Given the description of an element on the screen output the (x, y) to click on. 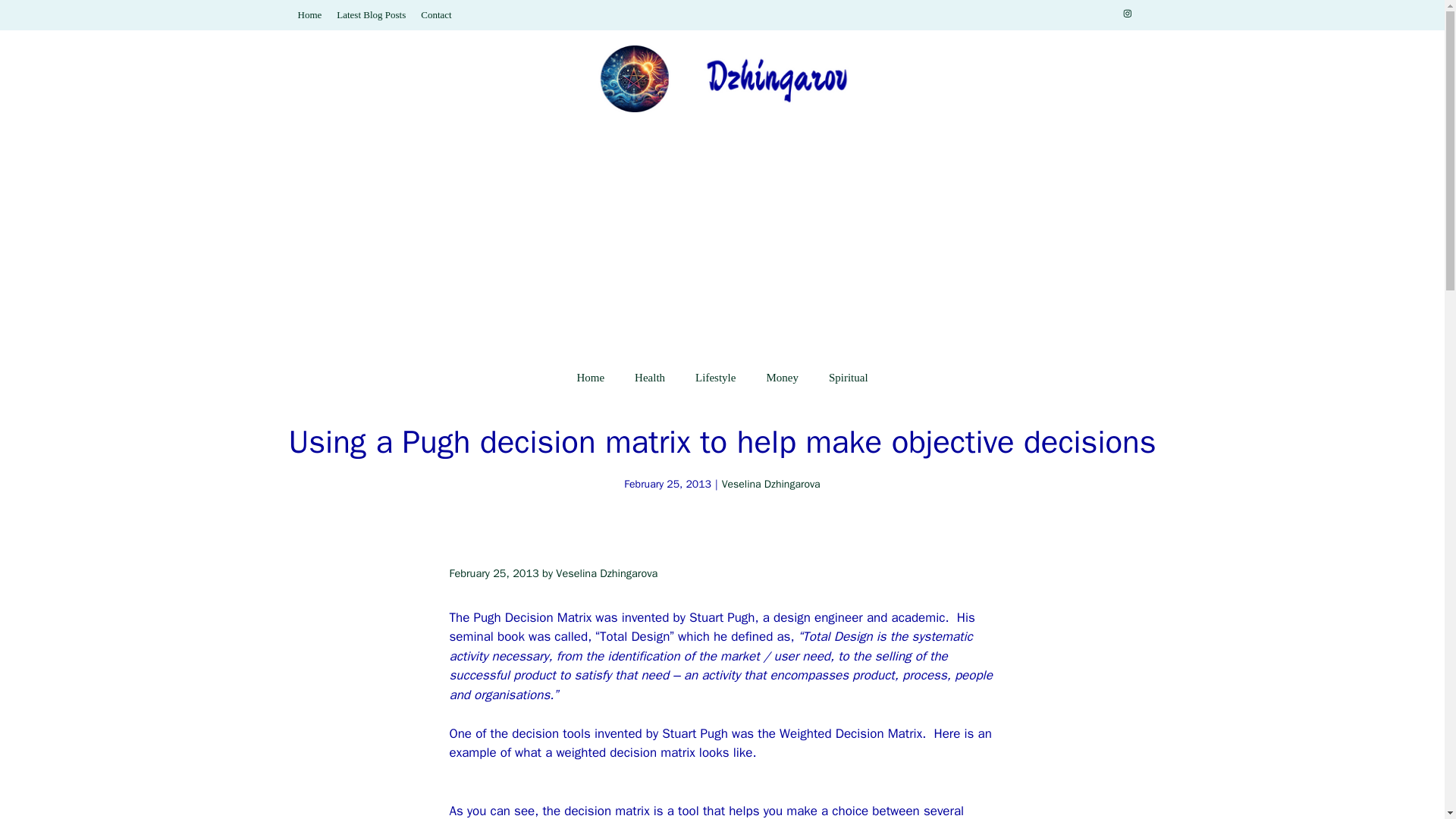
Latest Blog Posts (371, 14)
Money (782, 377)
Home (590, 377)
Spiritual (848, 377)
Home (309, 14)
View all posts by Veselina Dzhingarova (607, 572)
Contact (435, 14)
Veselina Dzhingarova (771, 483)
Lifestyle (715, 377)
